Given the description of an element on the screen output the (x, y) to click on. 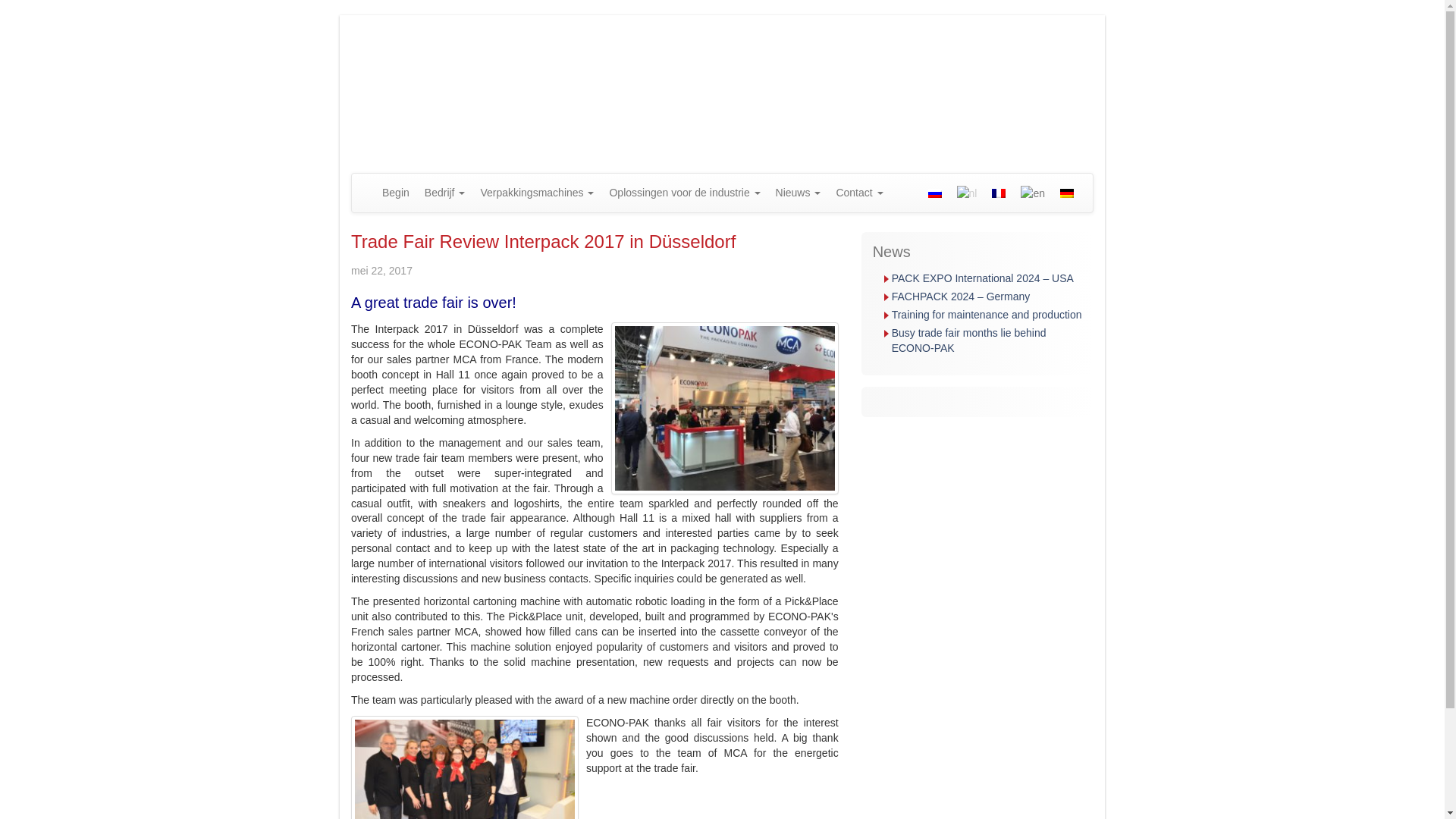
Oplossingen voor de industrie (684, 192)
Verpakkingsmachines (536, 192)
Begin (395, 192)
Bedrijf (444, 192)
Contact (858, 192)
Econopak - The Packaging Company (498, 79)
Bedrijf (444, 192)
Nieuws (798, 192)
Oplossingen voor de industrie (684, 192)
Begin (395, 192)
